Given the description of an element on the screen output the (x, y) to click on. 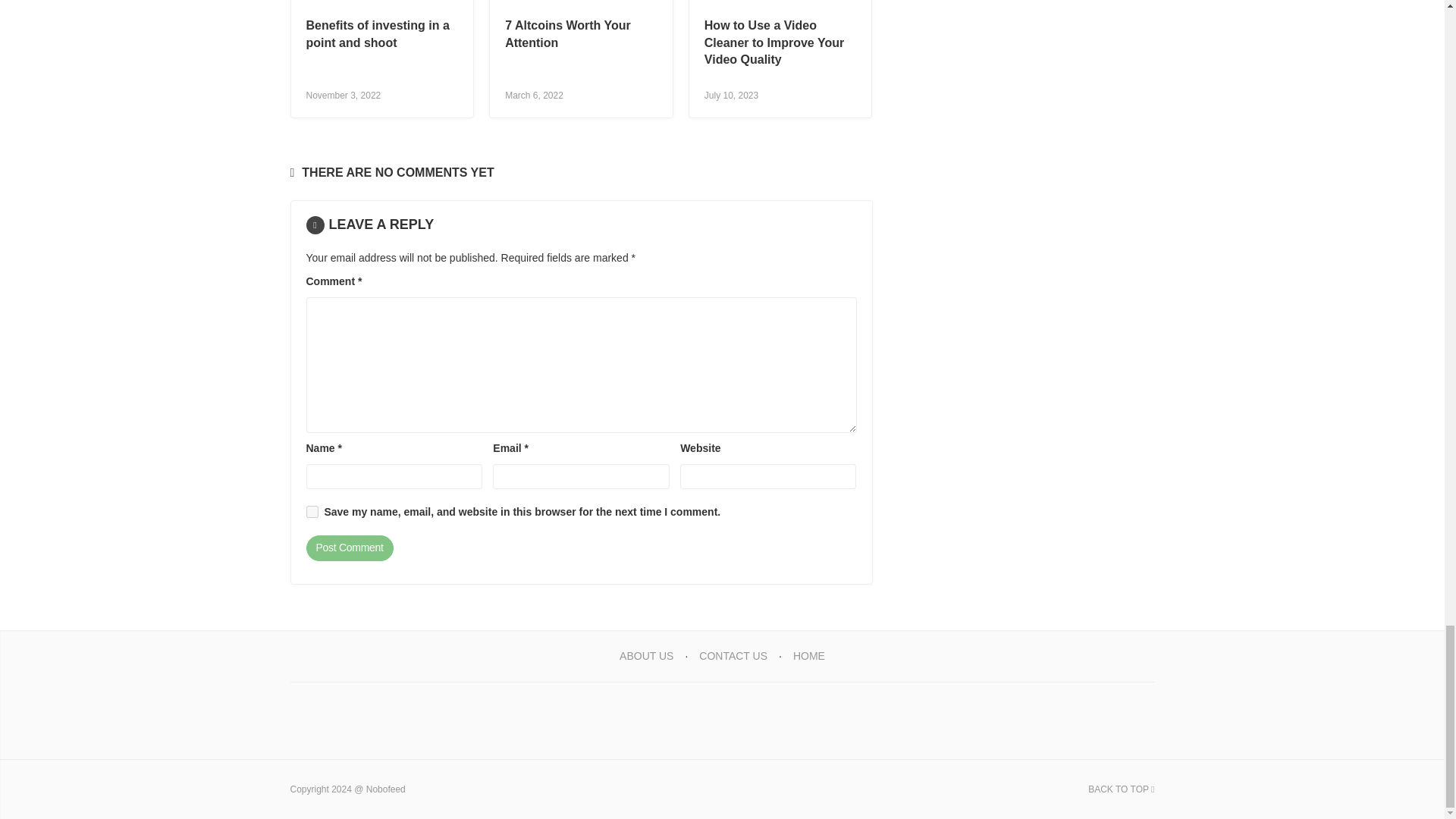
BACK TO TOP  (1120, 789)
yes (311, 511)
Post Comment (349, 548)
